Given the description of an element on the screen output the (x, y) to click on. 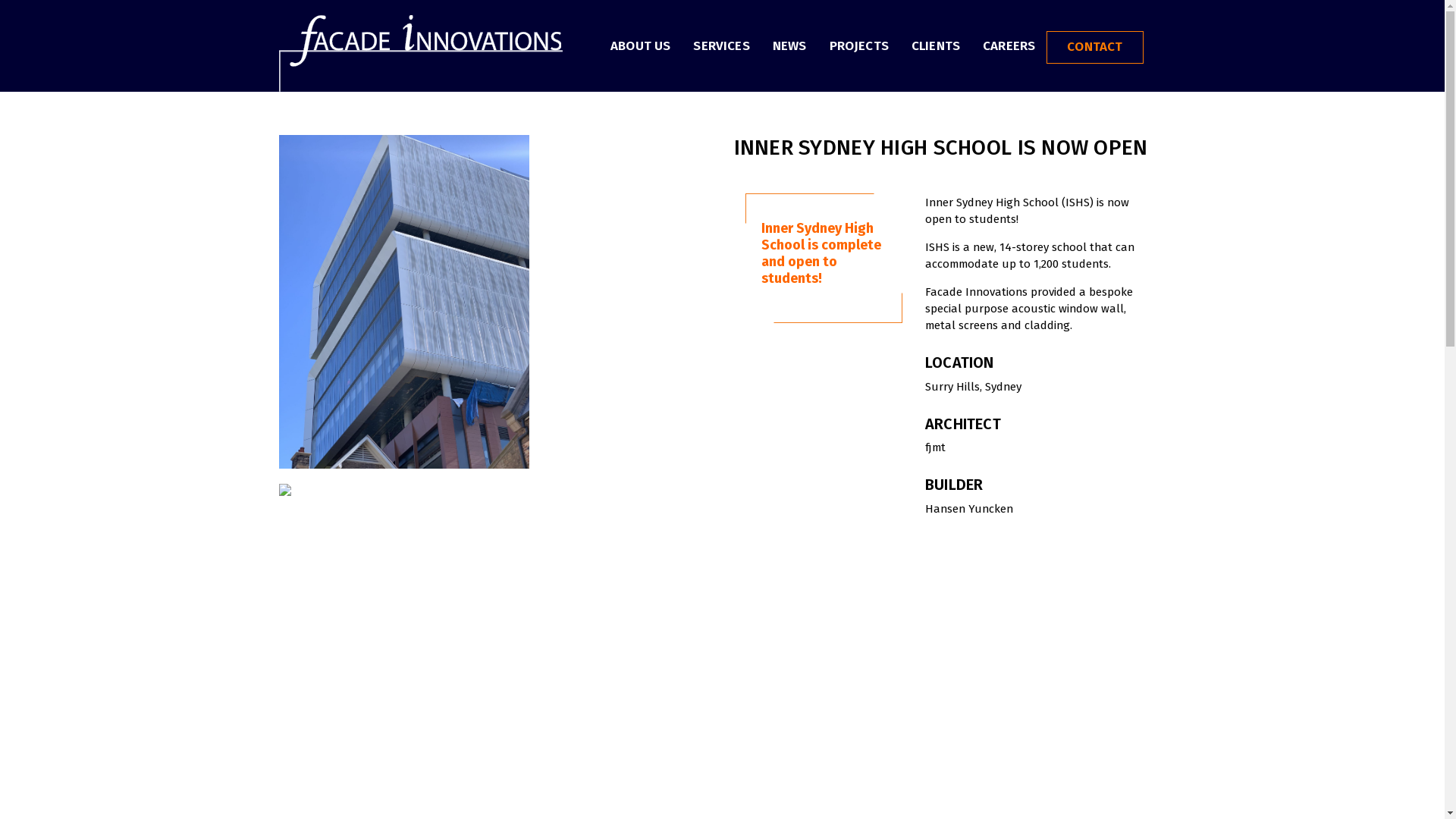
CAREERS Element type: text (1008, 44)
ABOUT US Element type: text (640, 44)
CLIENTS Element type: text (935, 44)
SERVICES Element type: text (720, 44)
PROJECTS Element type: text (859, 44)
CONTACT Element type: text (1094, 47)
NEWS Element type: text (789, 44)
